Given the description of an element on the screen output the (x, y) to click on. 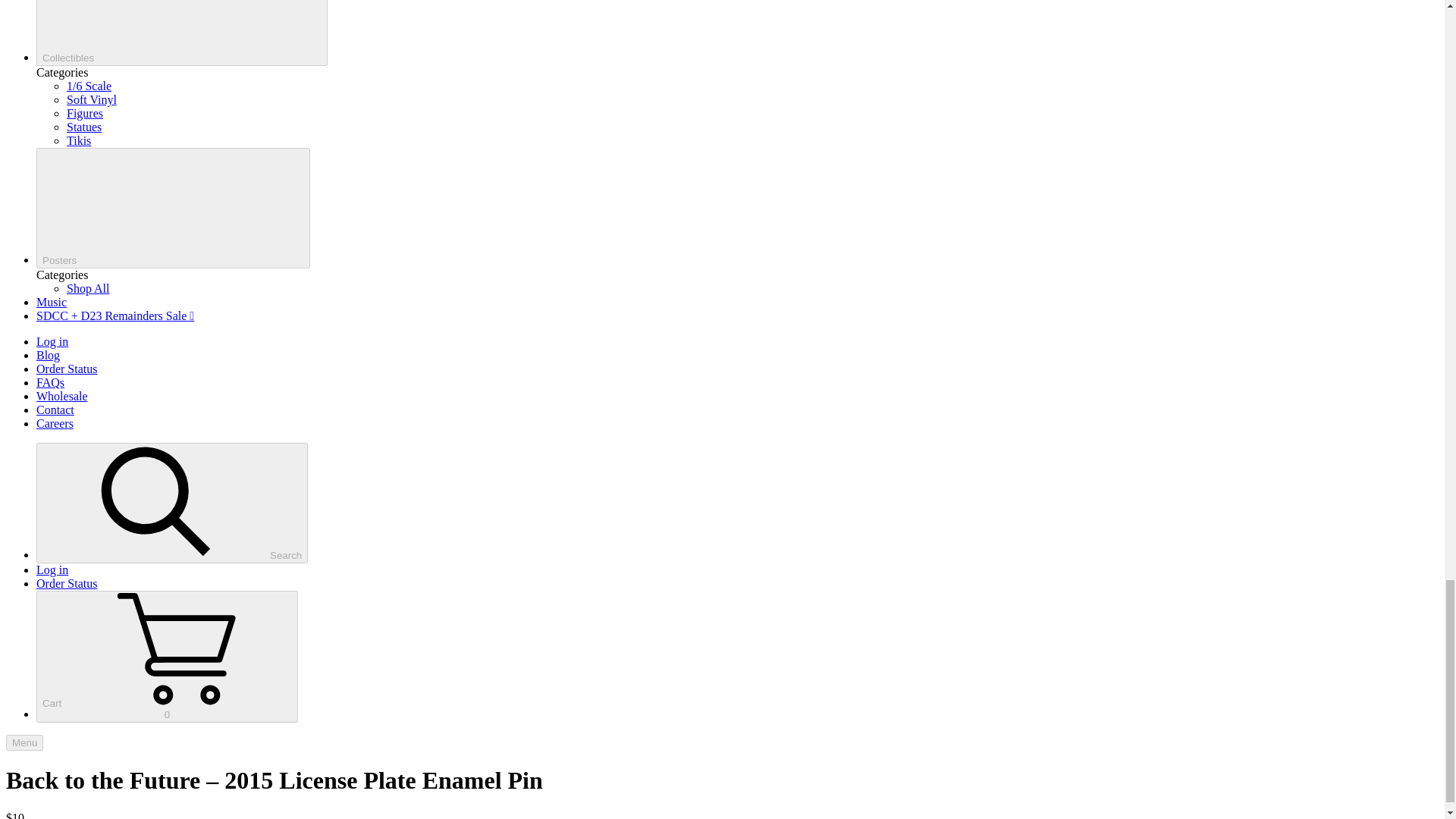
Collectibles (181, 33)
Search (171, 503)
Soft Vinyl (91, 99)
Careers (55, 422)
Order Status (66, 368)
Shop All (87, 287)
Log in (52, 341)
Tikis (78, 140)
Music (51, 301)
Posters (173, 208)
